Given the description of an element on the screen output the (x, y) to click on. 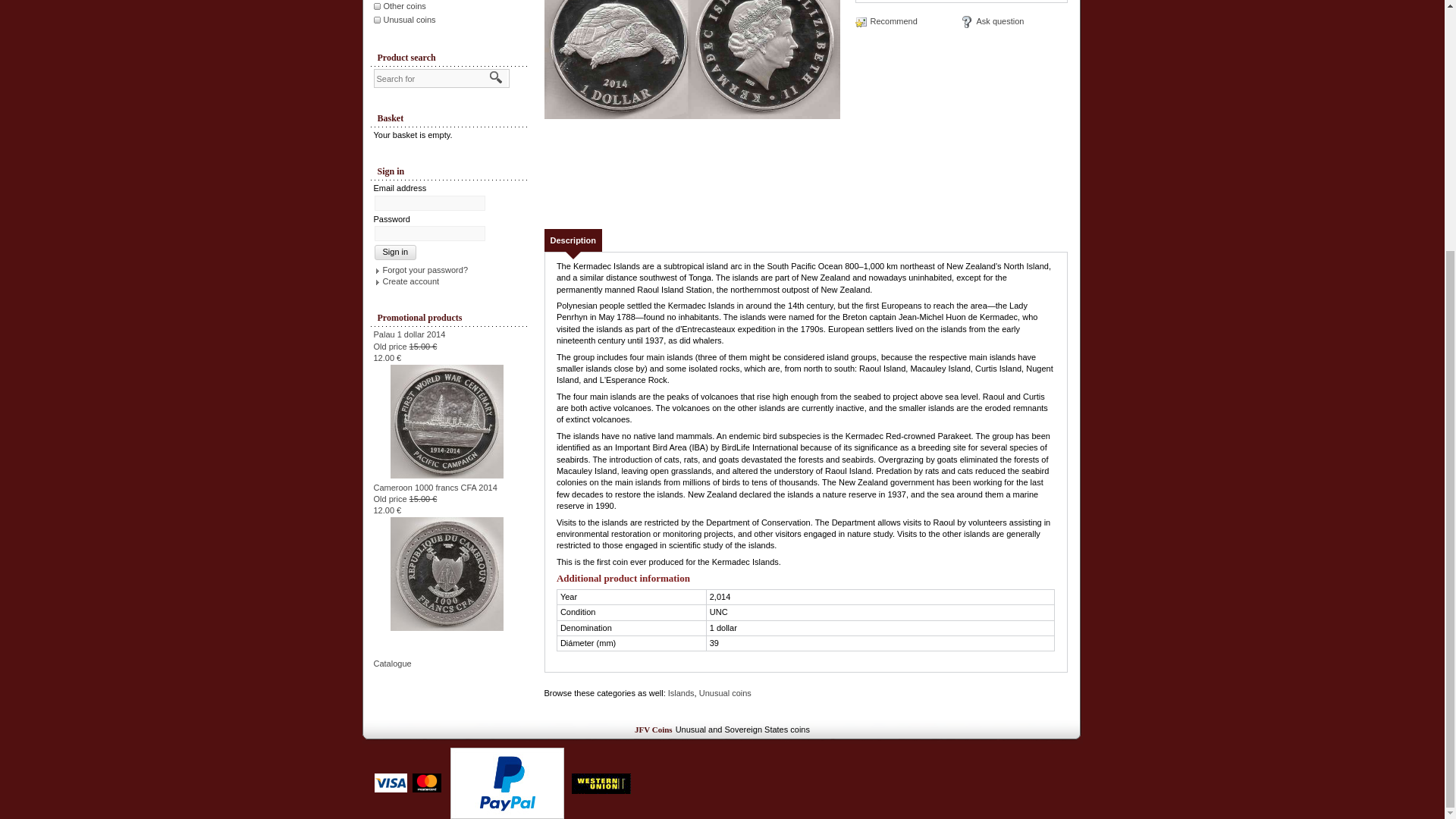
This shop supports payment using Mastercard. (426, 782)
Promotional products (449, 318)
JFV Coins (653, 728)
Unusual coins (724, 692)
Islands (681, 692)
Catalogue (391, 663)
Go to product (446, 573)
This shop supports payment via PayPal. (506, 783)
Description (573, 240)
Unusual coins (411, 19)
Recommend (886, 21)
Start search (496, 77)
Expand (692, 95)
Go to product (446, 420)
This shop supports payment using Visa. (390, 782)
